Given the description of an element on the screen output the (x, y) to click on. 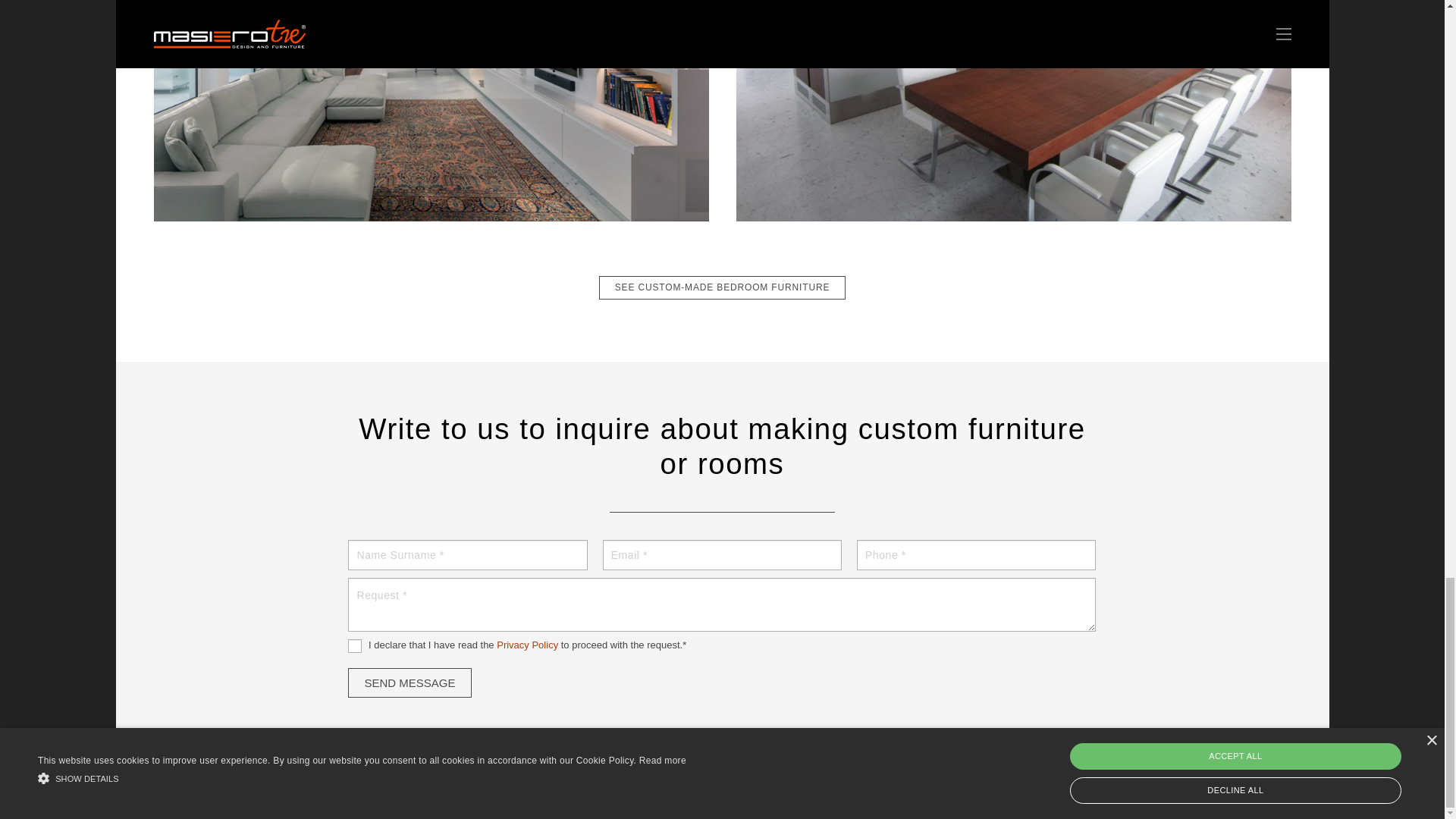
Neroavorio (575, 798)
LinkedIn (1261, 784)
Privacy Policy (526, 644)
Privacy (470, 769)
Custom-made room in walnut wood (721, 287)
YouTube (1280, 784)
Instagram (1242, 784)
SEND MESSAGE (408, 682)
SEE CUSTOM-MADE BEDROOM FURNITURE (721, 287)
Facebook (1223, 784)
